Given the description of an element on the screen output the (x, y) to click on. 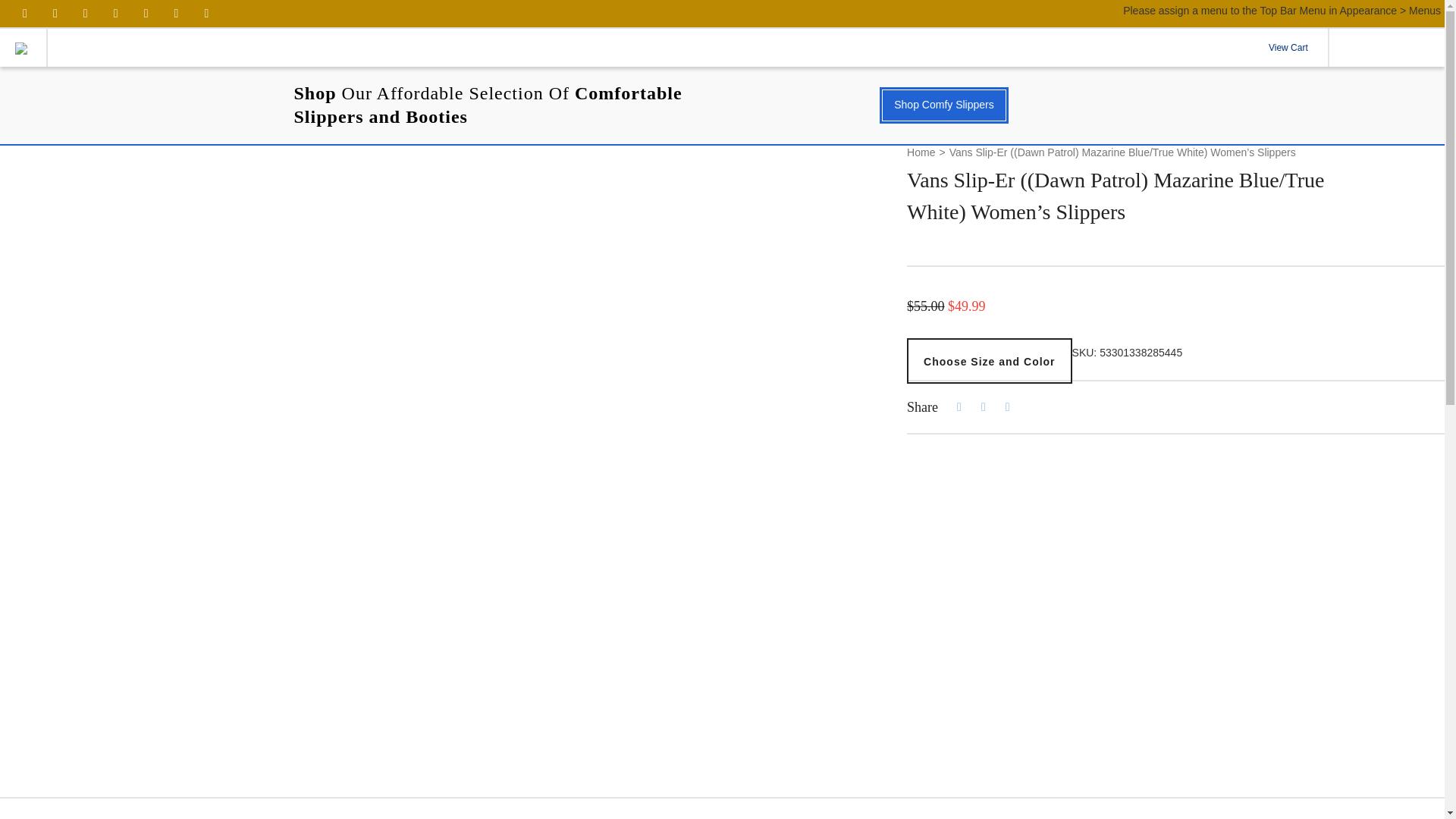
View Cart (1287, 47)
Choose Size and Color (989, 361)
Home (920, 152)
Shop Comfy Slippers (944, 105)
